Given the description of an element on the screen output the (x, y) to click on. 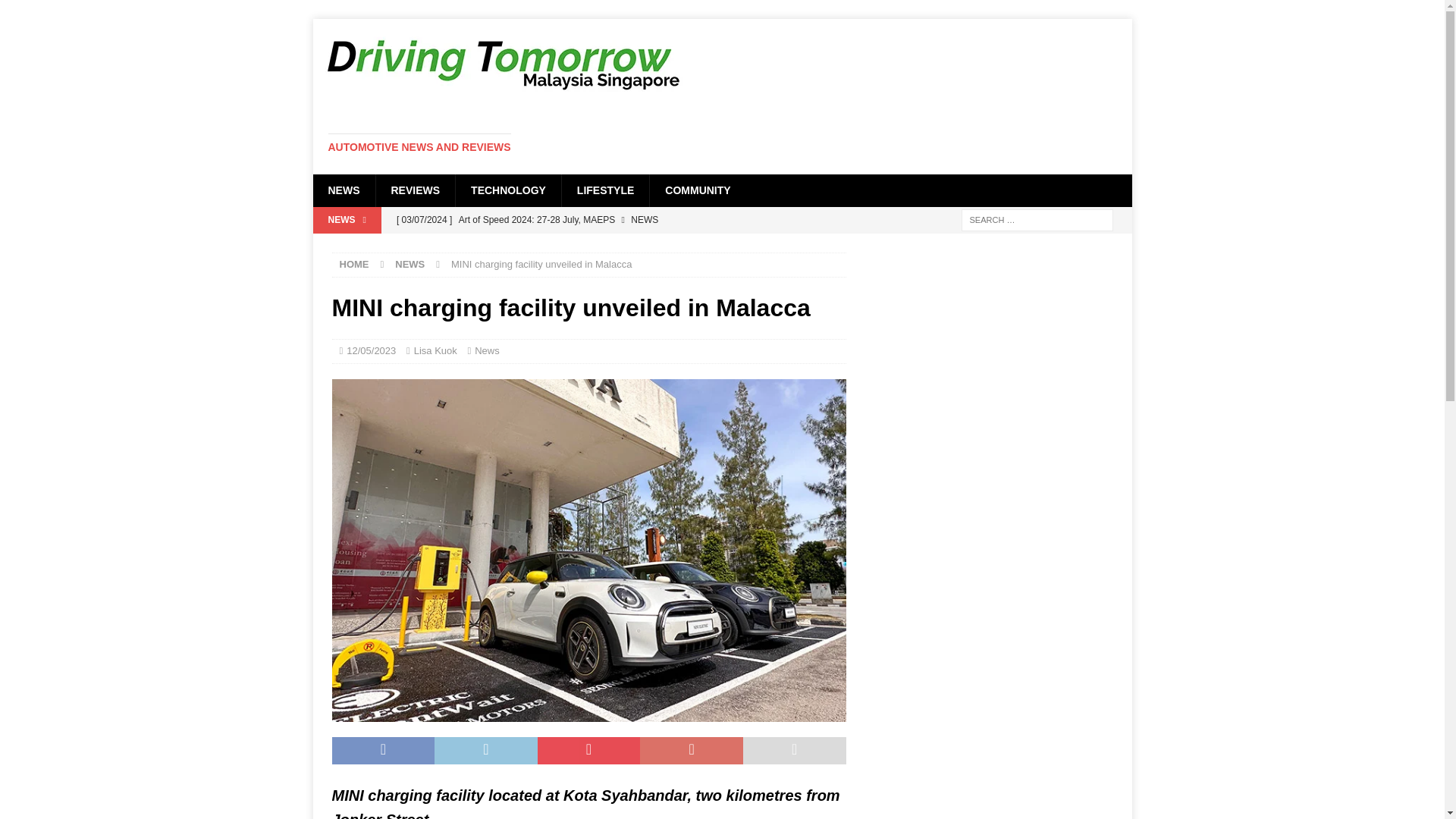
NEWS (343, 190)
NEWS (409, 264)
HOME (354, 264)
BYD 3S centre now in Sri Hartamas (616, 245)
REVIEWS (414, 190)
AUTOMOTIVE NEWS AND REVIEWS (419, 146)
News (486, 350)
Search (56, 11)
Art of Speed 2024: 27-28 July, MAEPS (616, 219)
